Given the description of an element on the screen output the (x, y) to click on. 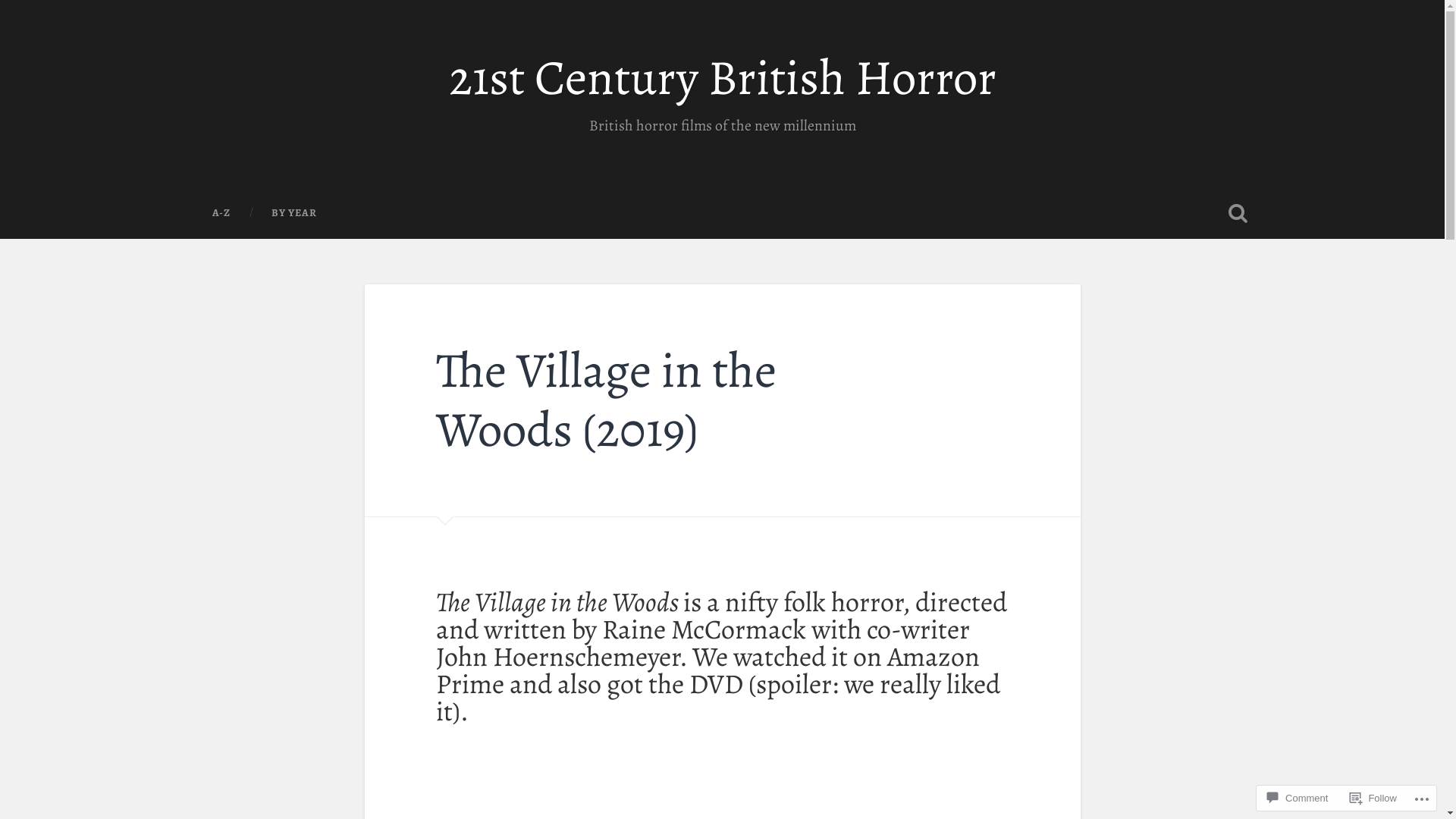
A-Z Element type: text (220, 212)
The Village in the Woods (2019) Element type: text (606, 399)
Open Search Element type: text (1237, 212)
Follow Element type: text (1372, 797)
BY YEAR Element type: text (293, 212)
21st Century British Horror Element type: text (722, 76)
Comment Element type: text (1297, 797)
